Given the description of an element on the screen output the (x, y) to click on. 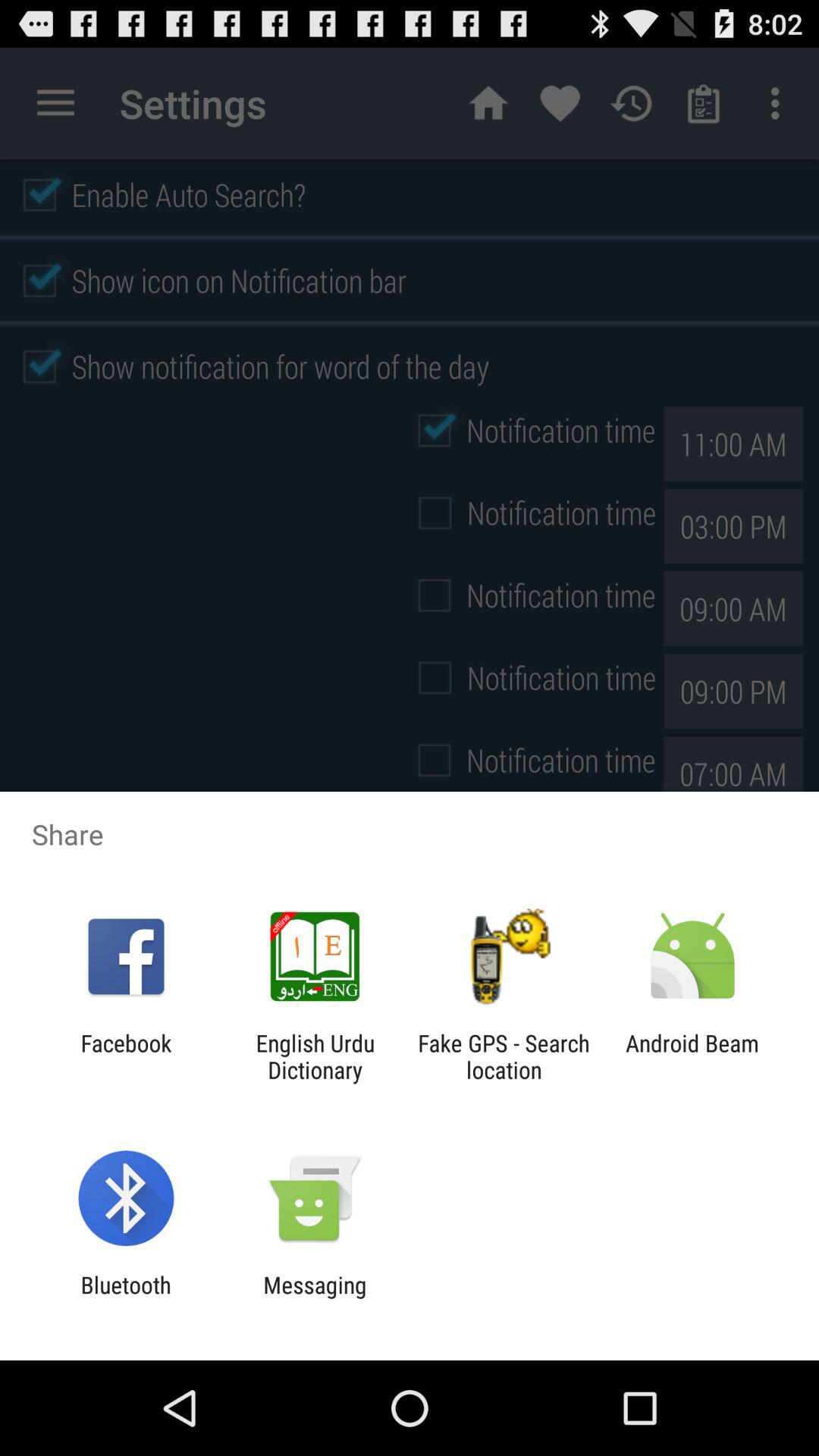
jump to fake gps search item (503, 1056)
